Given the description of an element on the screen output the (x, y) to click on. 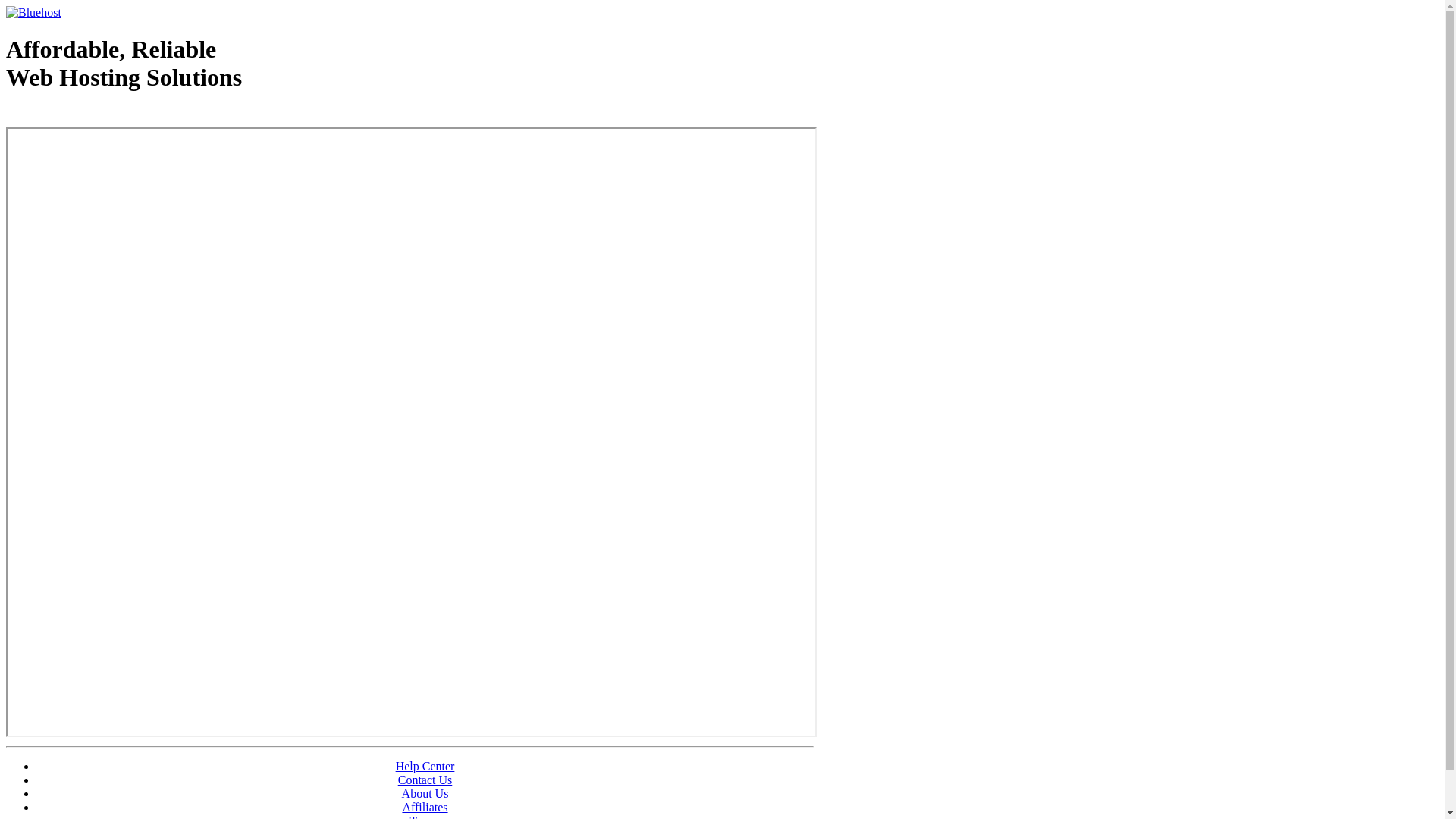
Contact Us Element type: text (425, 779)
Help Center Element type: text (425, 765)
Affiliates Element type: text (424, 806)
Web Hosting - courtesy of www.bluehost.com Element type: text (94, 115)
About Us Element type: text (424, 793)
